Given the description of an element on the screen output the (x, y) to click on. 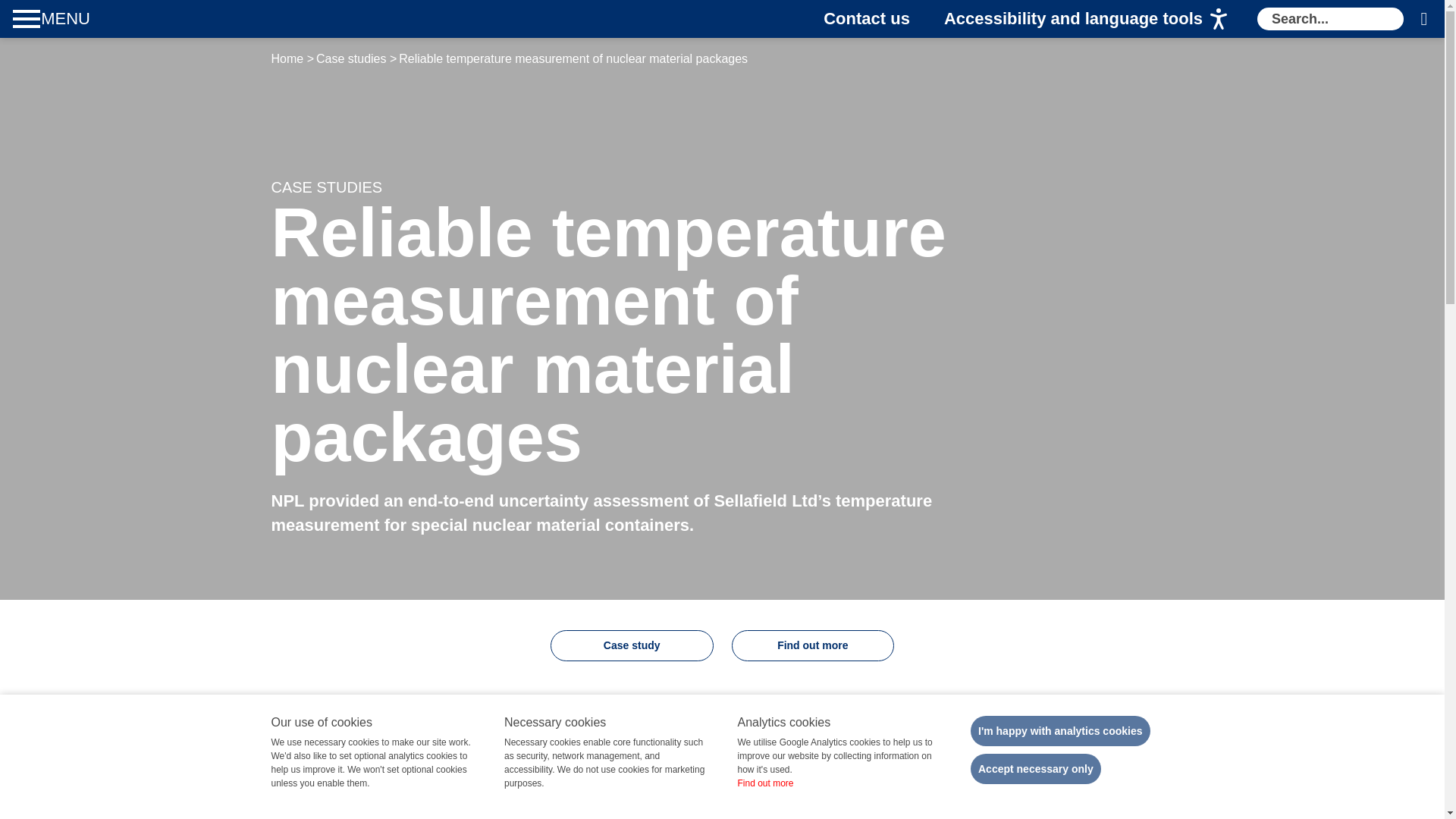
Menu (53, 18)
Home (159, 18)
I'm happy with analytics cookies (1060, 730)
Accessibility and language tools (1085, 18)
Menu (53, 18)
Contact us (867, 18)
Accept necessary only (1035, 768)
Launch Recite Me assistive technology (1085, 18)
Home (159, 18)
